Given the description of an element on the screen output the (x, y) to click on. 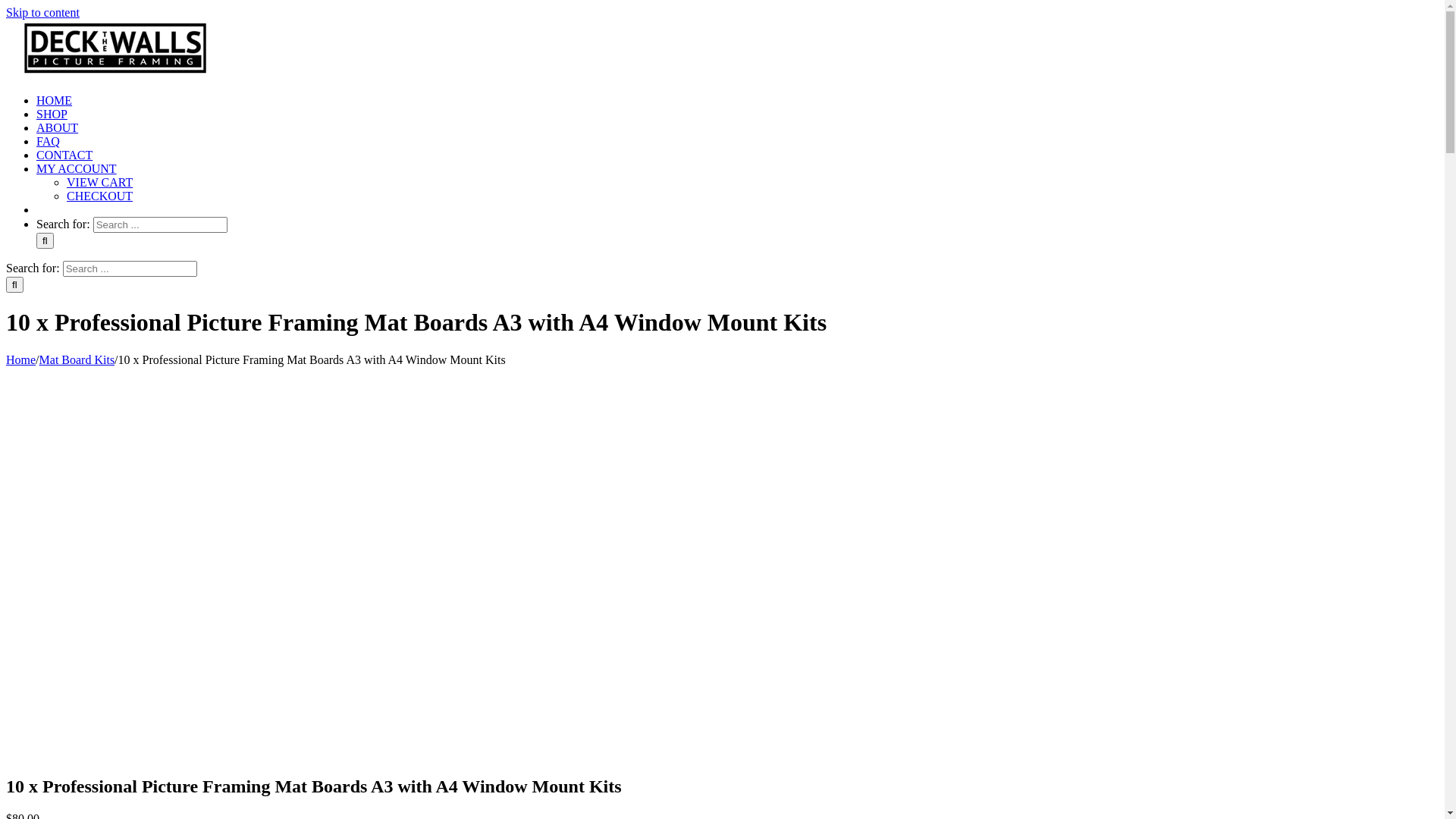
FAQ Element type: text (47, 140)
Mat Board Kits Element type: text (77, 359)
MY ACCOUNT Element type: text (76, 168)
Home Element type: text (20, 359)
ABOUT Element type: text (57, 127)
CONTACT Element type: text (64, 154)
HOME Element type: text (54, 100)
Skip to content Element type: text (42, 12)
CHECKOUT Element type: text (99, 195)
SHOP Element type: text (51, 113)
VIEW CART Element type: text (99, 181)
